Given the description of an element on the screen output the (x, y) to click on. 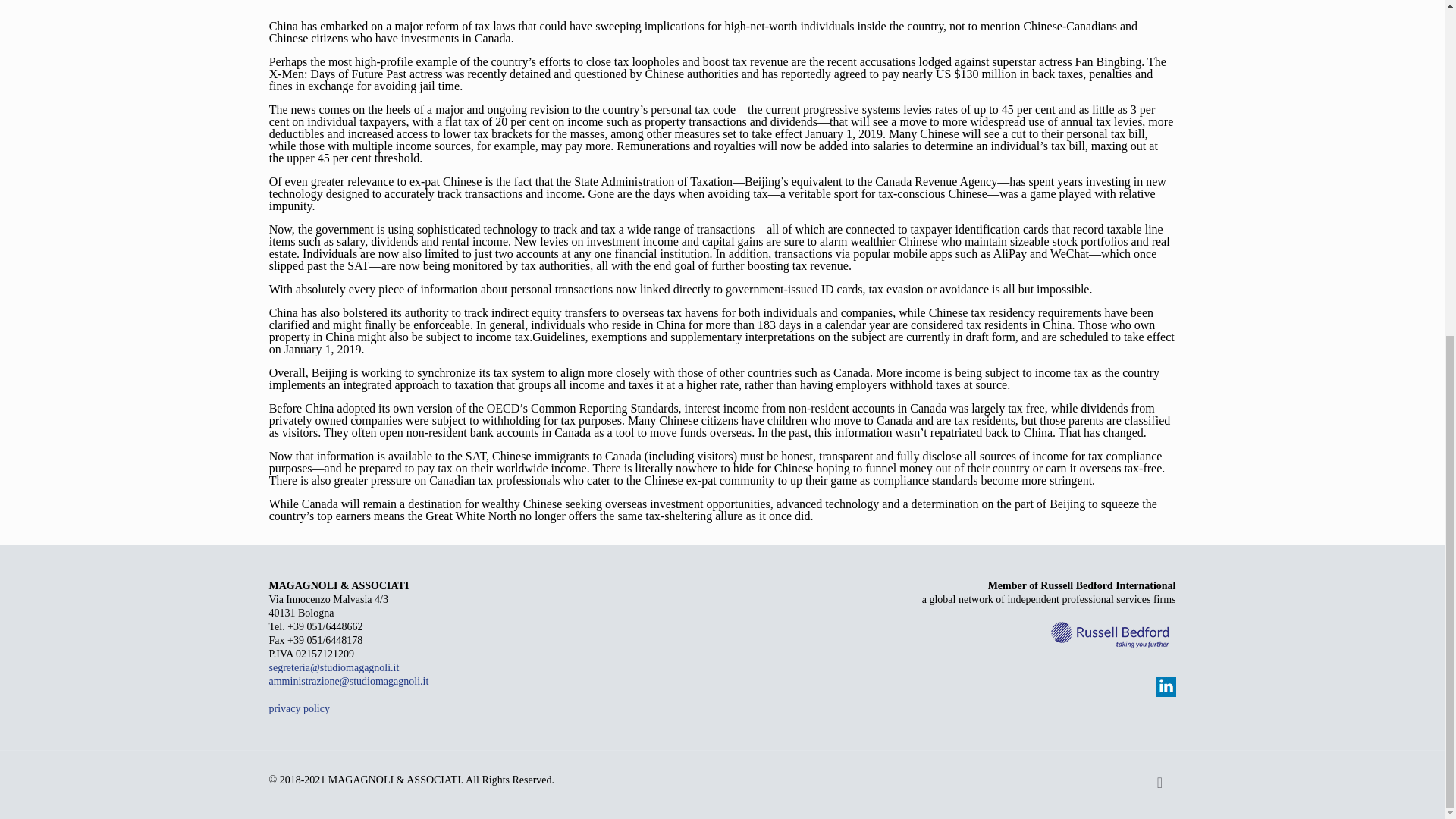
privacy policy (298, 708)
